Given the description of an element on the screen output the (x, y) to click on. 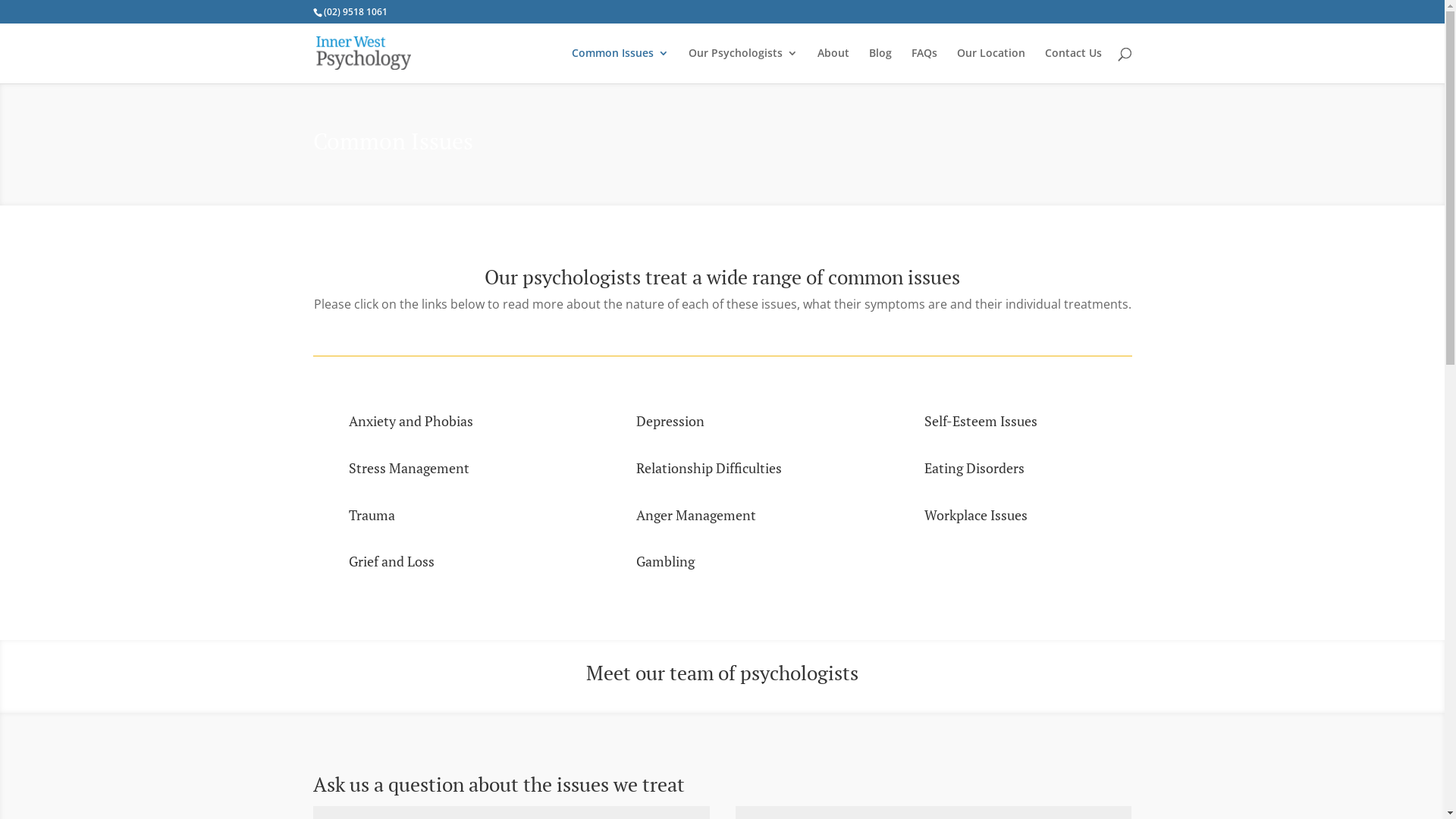
Gambling Element type: text (665, 561)
Our Psychologists Element type: text (742, 65)
FAQs Element type: text (924, 65)
Trauma Element type: text (371, 514)
Anger Management Element type: text (696, 514)
Self-Esteem Issues Element type: text (980, 420)
Contact Us Element type: text (1072, 65)
Stress Management Element type: text (408, 467)
Blog Element type: text (880, 65)
Workplace Issues Element type: text (975, 514)
Relationship Difficulties Element type: text (708, 467)
Eating Disorders Element type: text (974, 467)
Common Issues Element type: text (619, 65)
Grief and Loss Element type: text (391, 561)
Depression Element type: text (670, 420)
About Element type: text (833, 65)
Our Location Element type: text (991, 65)
Anxiety and Phobias Element type: text (410, 420)
